Given the description of an element on the screen output the (x, y) to click on. 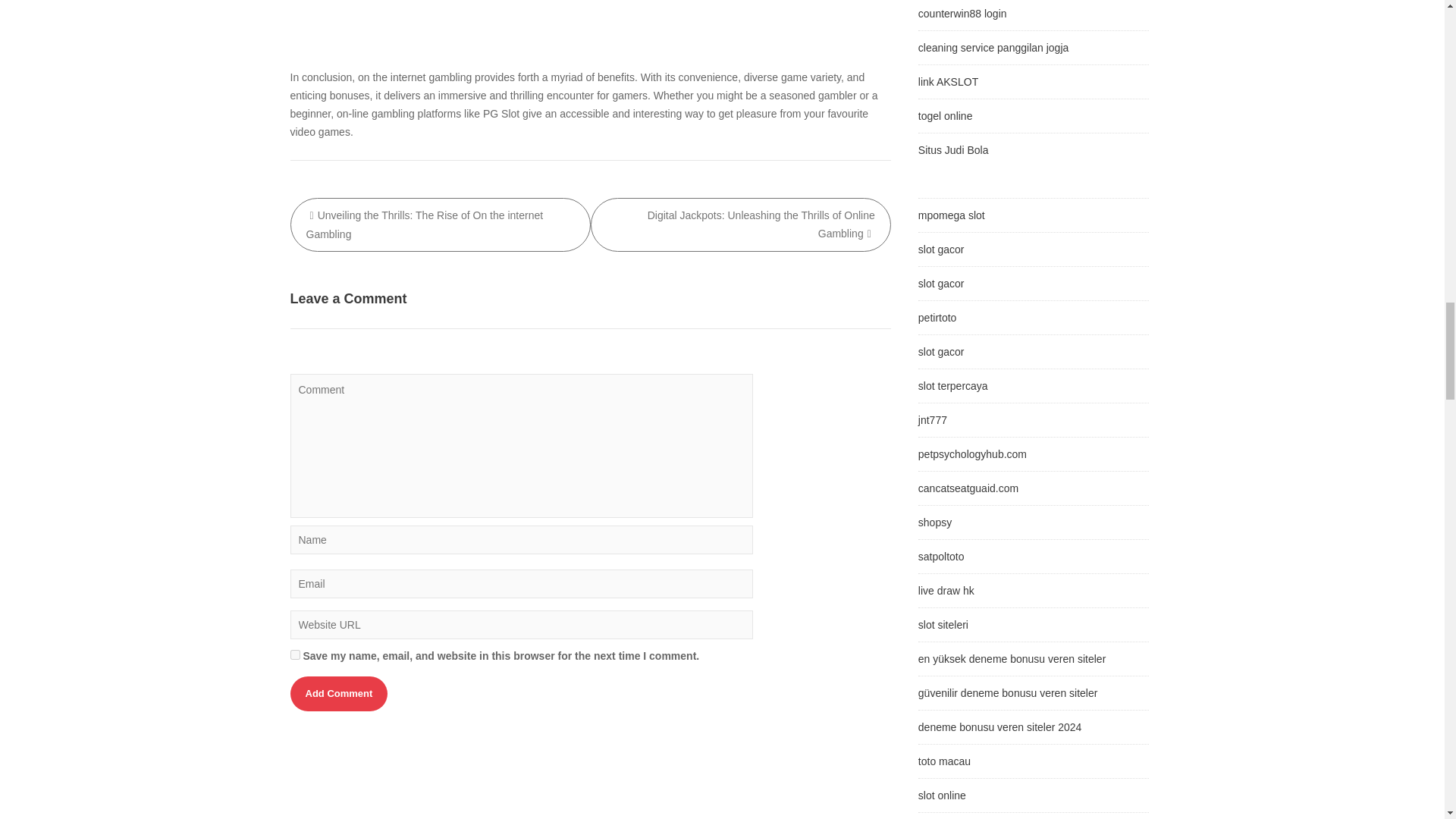
Add Comment (338, 693)
Unveiling the Thrills: The Rise of On the internet Gambling (439, 224)
yes (294, 655)
Digital Jackpots: Unleashing the Thrills of Online Gambling (741, 224)
Add Comment (338, 693)
